Given the description of an element on the screen output the (x, y) to click on. 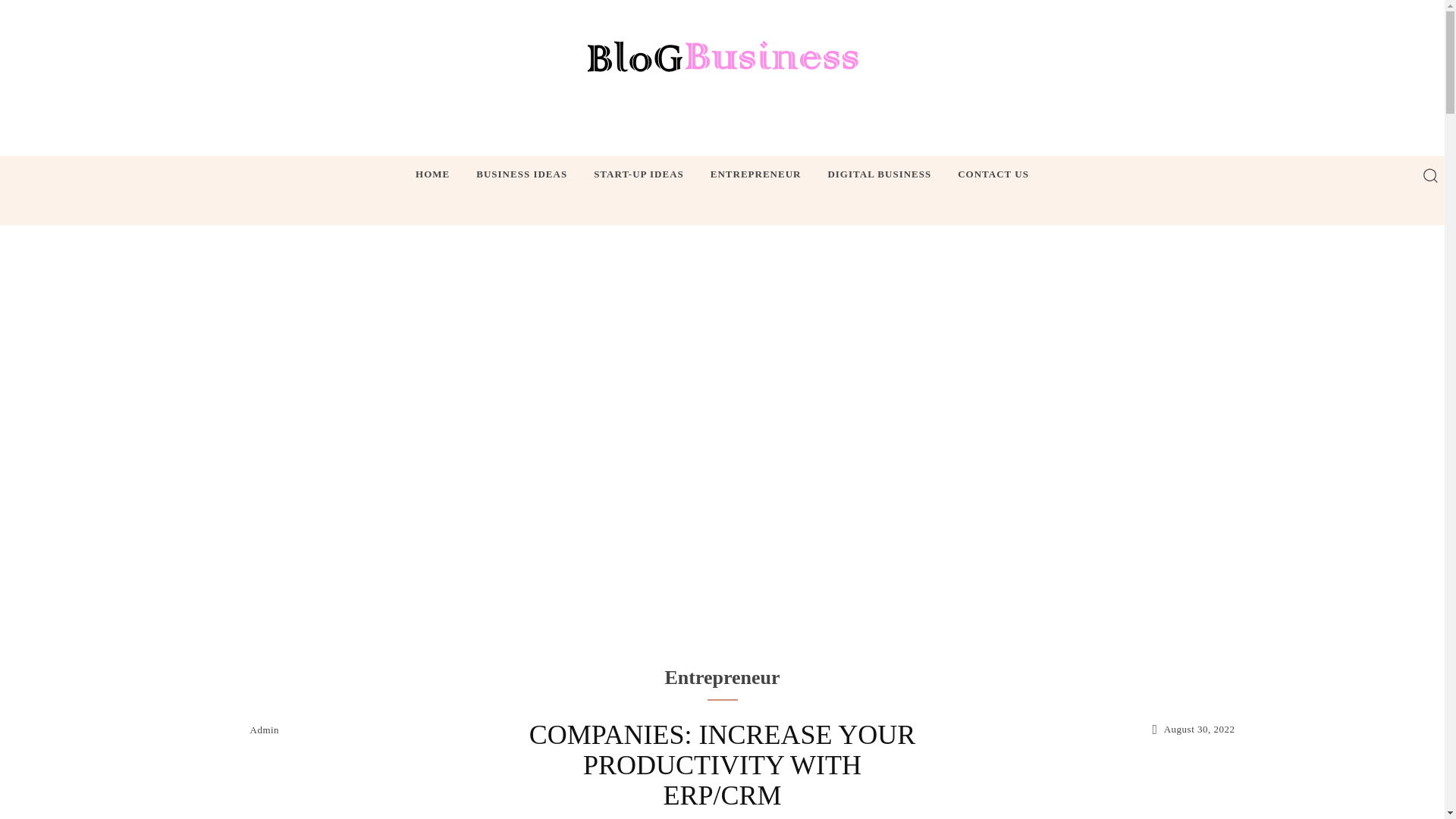
admin (228, 729)
Admin (264, 729)
BUSINESS IDEAS (521, 174)
DIGITAL BUSINESS (879, 174)
START-UP IDEAS (638, 174)
HOME (432, 174)
ENTREPRENEUR (756, 174)
CONTACT US (993, 174)
